Given the description of an element on the screen output the (x, y) to click on. 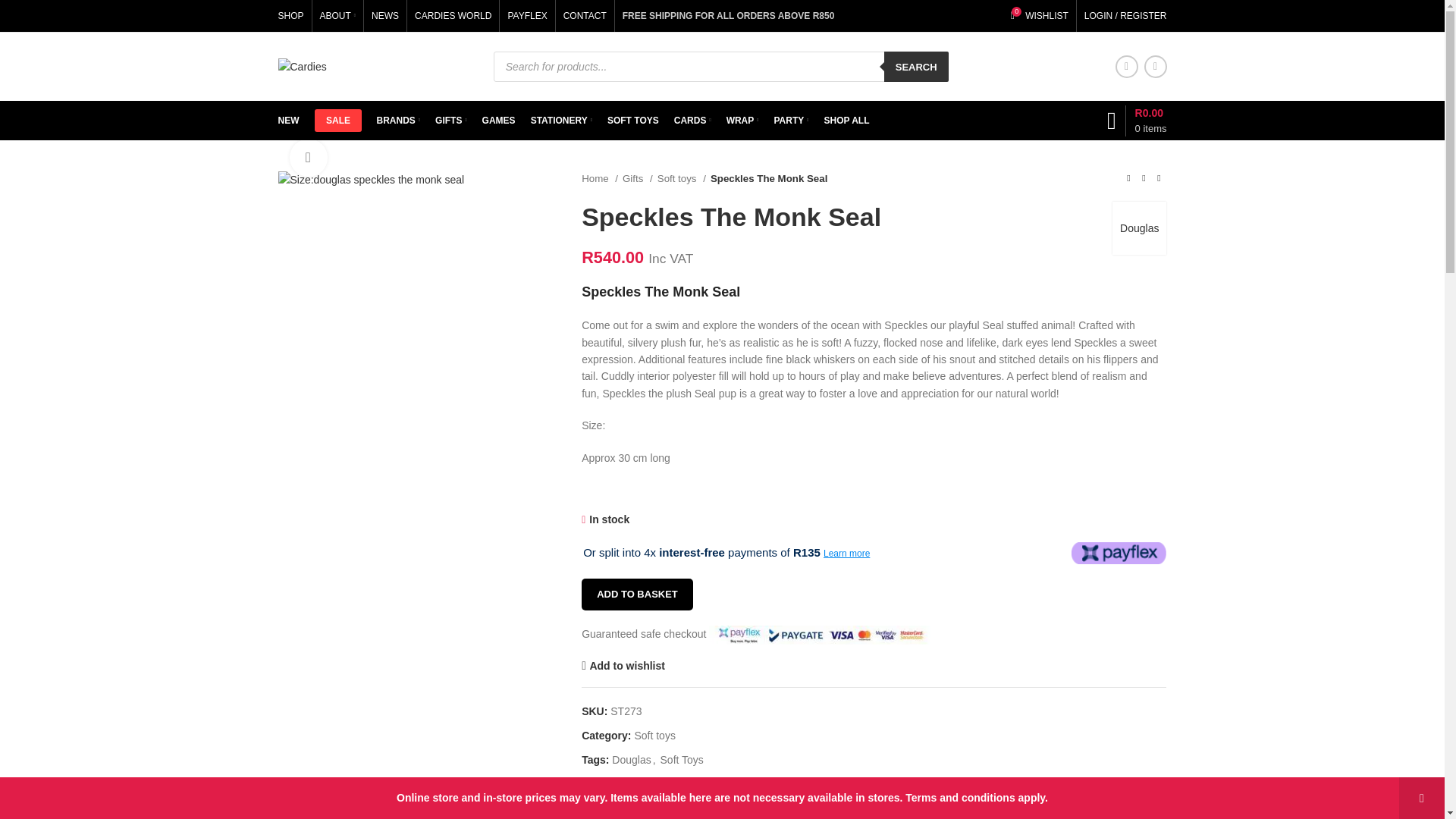
PAYFLEX (526, 15)
SEARCH (916, 66)
ABOUT (338, 15)
Shopping cart (1136, 119)
Douglas Speckles The Monk Seal (371, 179)
GIFTS (451, 120)
SALE (337, 119)
My account (1125, 15)
CONTACT (585, 15)
CARDIES WORLD (453, 15)
My Wishlist (1039, 15)
BRANDS (1039, 15)
GAMES (398, 120)
